Given the description of an element on the screen output the (x, y) to click on. 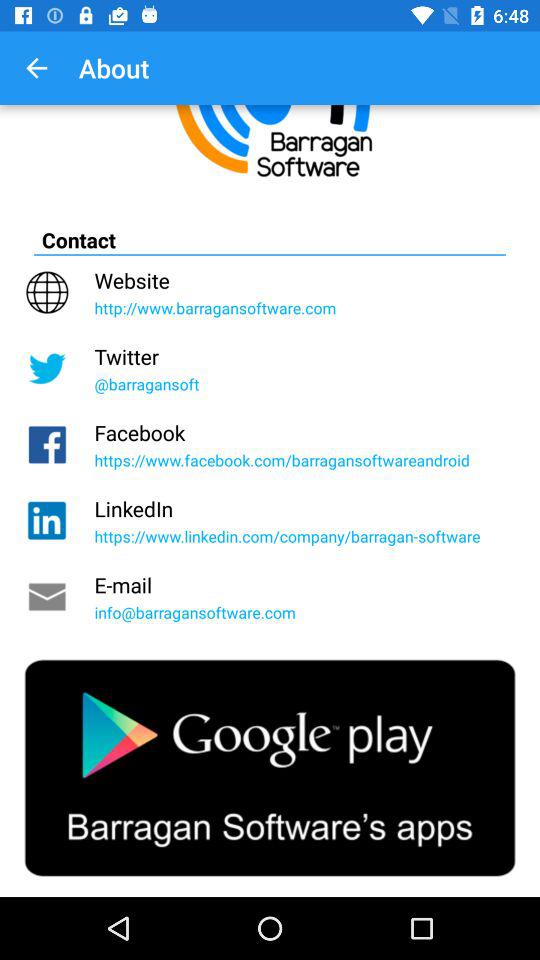
open barragan software 's apps google play store (269, 767)
